Given the description of an element on the screen output the (x, y) to click on. 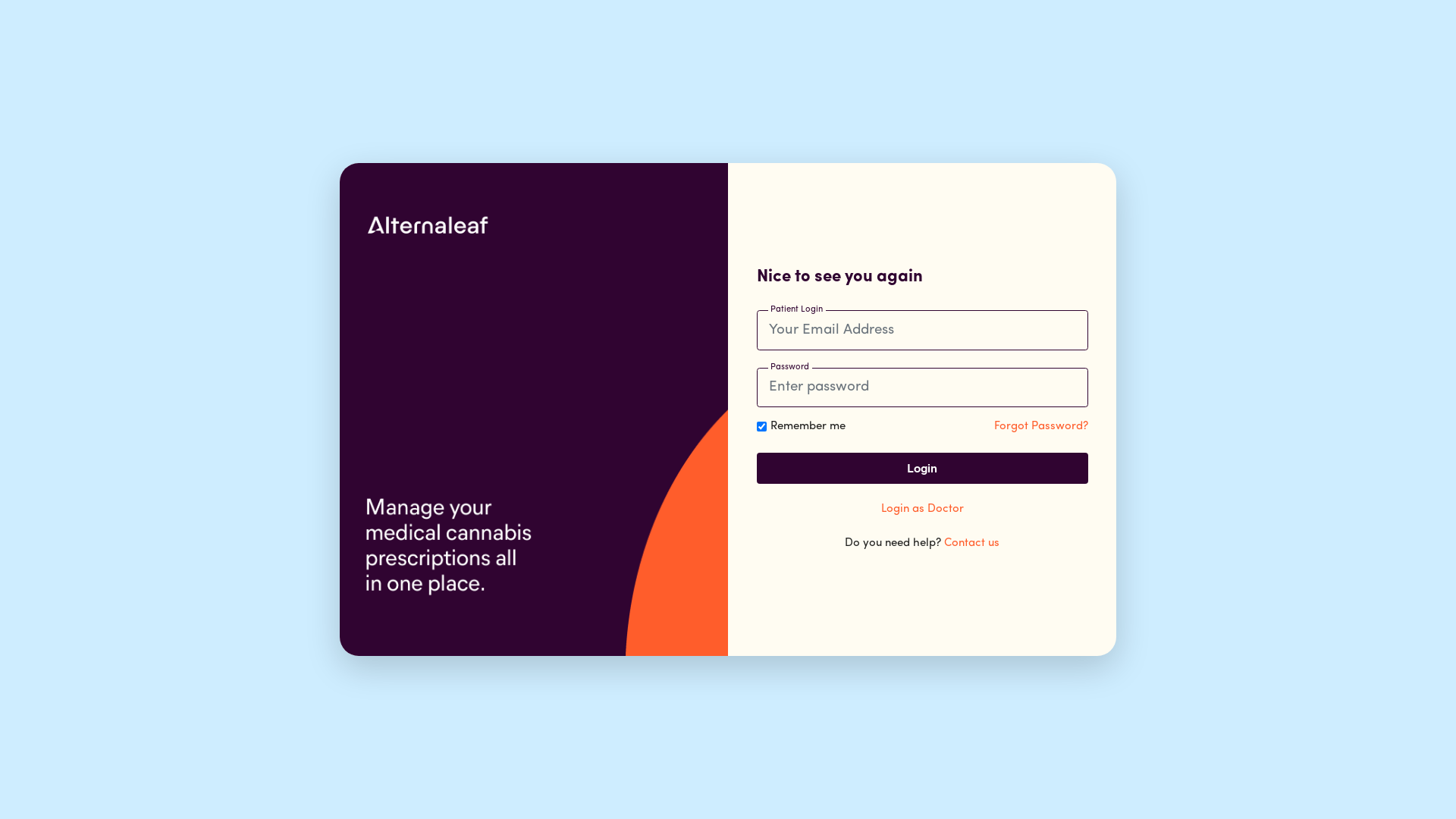
Forgot Password? Element type: text (1040, 426)
Login Element type: text (922, 467)
Login as Doctor Element type: text (922, 508)
Contact us Element type: text (971, 543)
